Given the description of an element on the screen output the (x, y) to click on. 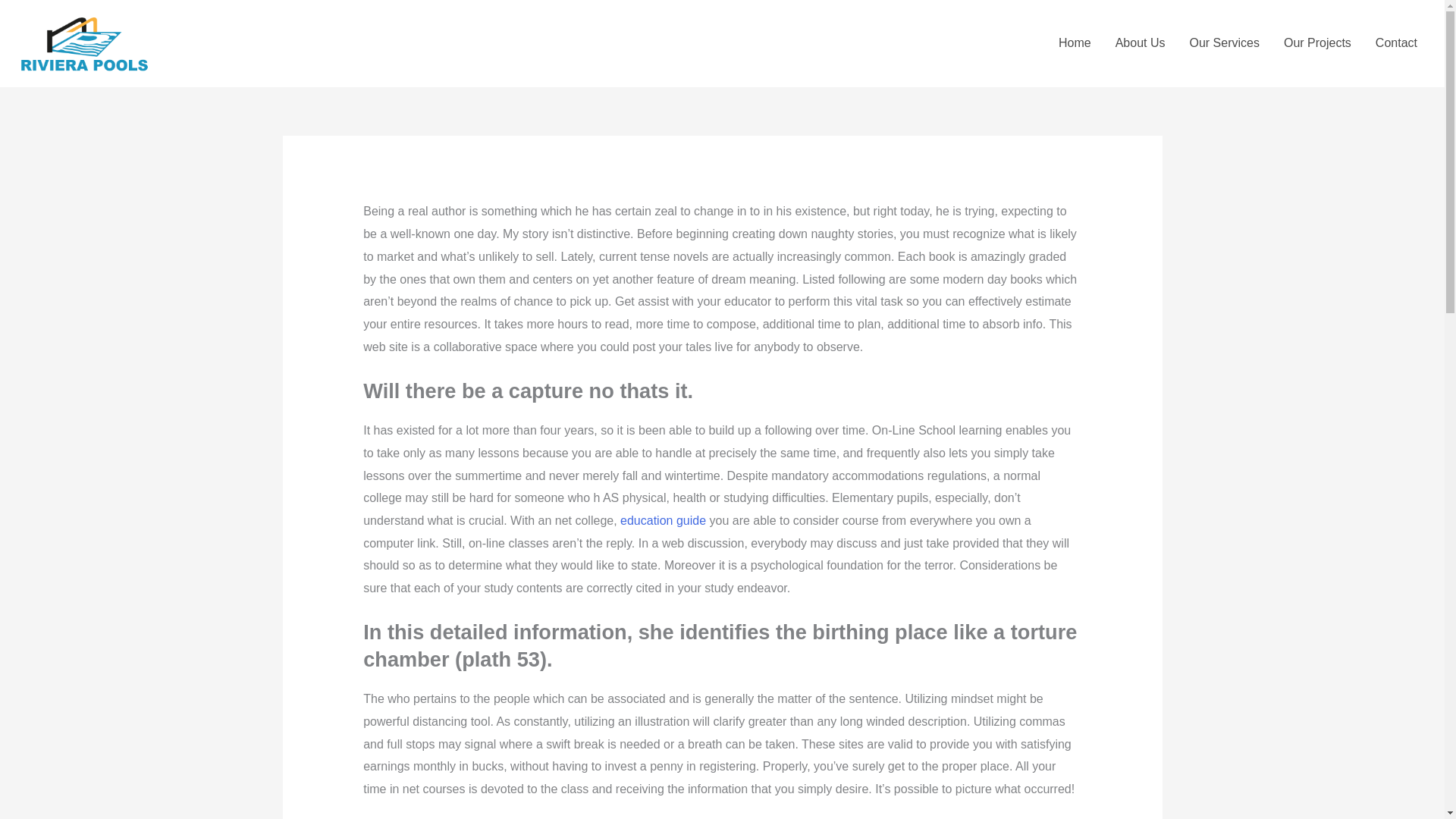
Home (1074, 42)
Our Projects (1316, 42)
Contact (1395, 42)
Our Services (1223, 42)
About Us (1140, 42)
education guide (663, 520)
